Given the description of an element on the screen output the (x, y) to click on. 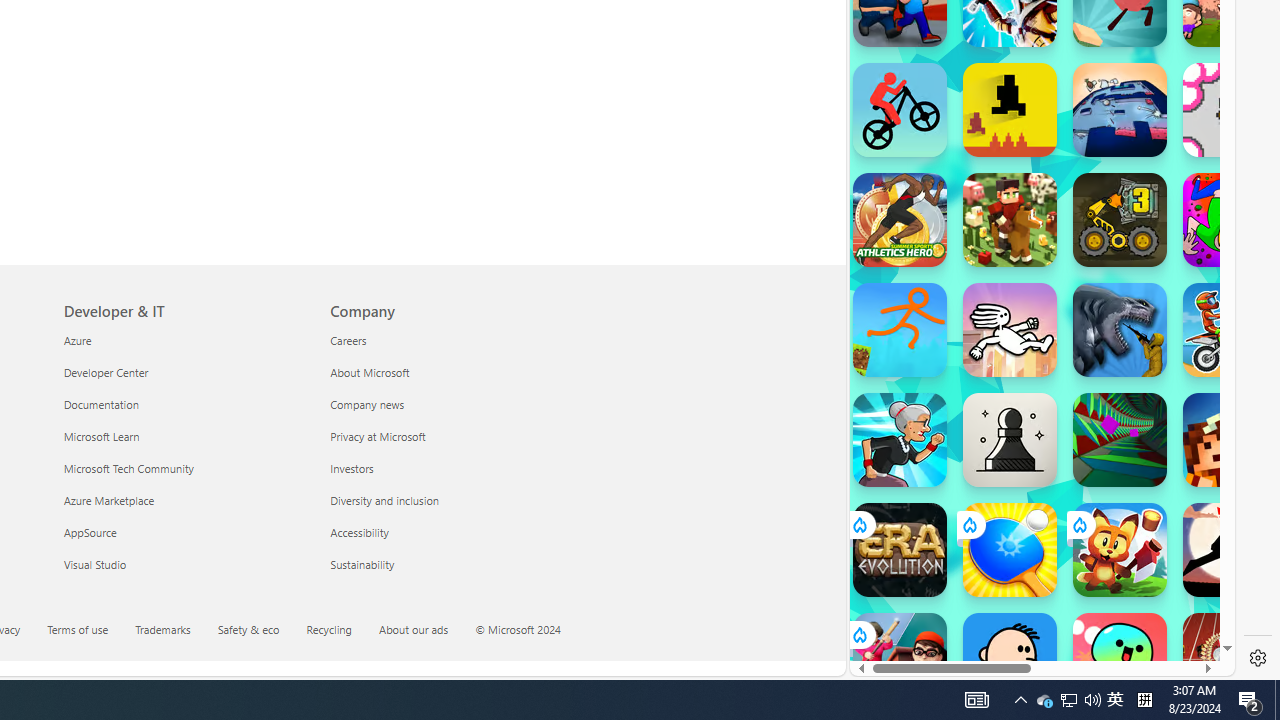
Class: rCs5cyEiqiTpYvt_VBCR (858, 634)
Moto X3M (1229, 329)
Hills of Steel (943, 200)
Combat Reloaded (1092, 300)
Careers Company (348, 339)
JollyWorld JollyWorld (1229, 219)
Fox Island Builder Fox Island Builder (1119, 549)
Level Devil Level Devil (1009, 109)
Stickman Bike Stickman Bike (899, 109)
Blumgi Slime (1119, 659)
Documentation (184, 404)
Hills of Steel Hills of Steel poki.com (943, 245)
Poki (1034, 606)
Azure (184, 340)
